Given the description of an element on the screen output the (x, y) to click on. 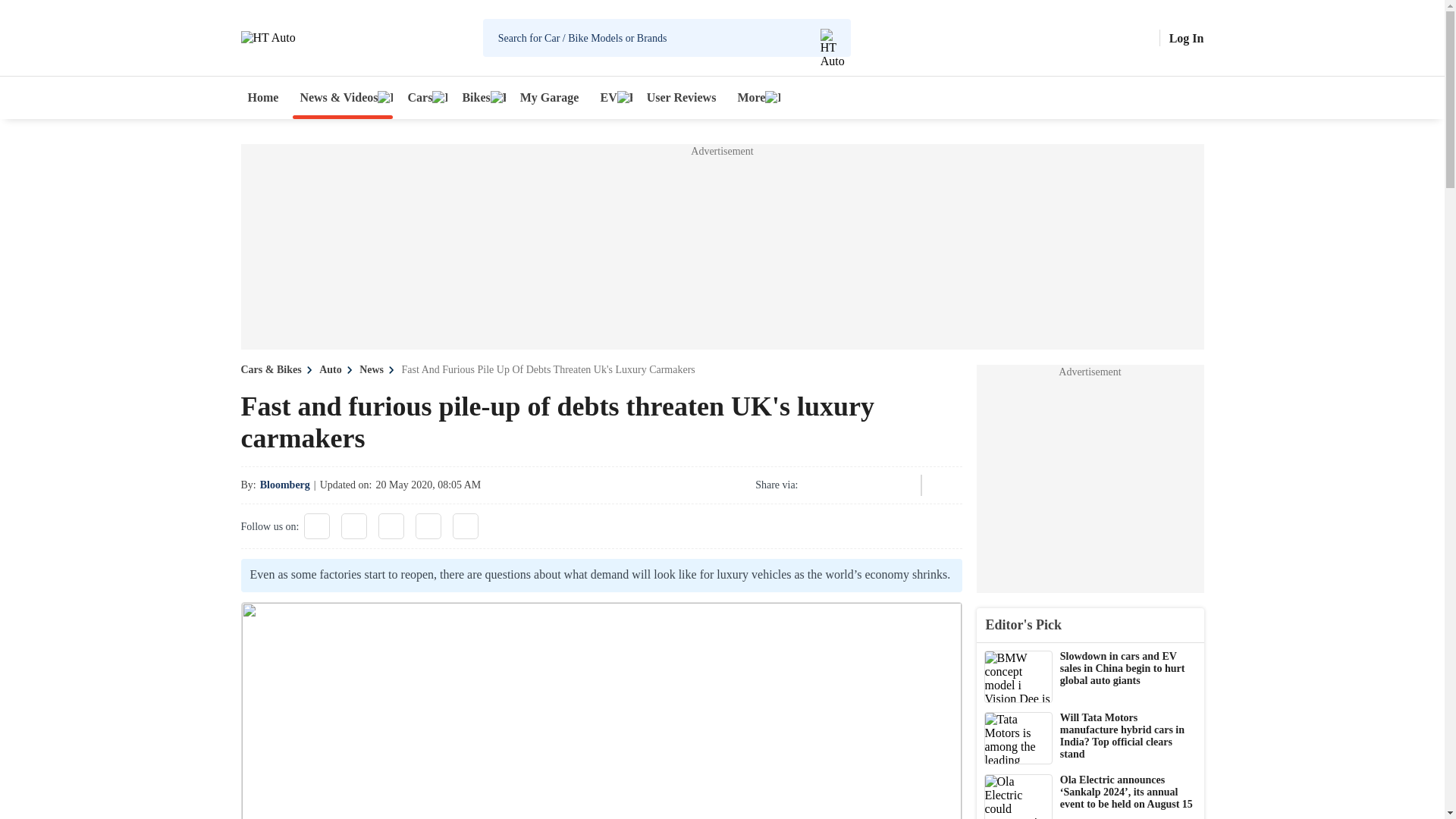
Bikes (479, 97)
Facebook Share (816, 484)
Tweet (857, 484)
Cars (423, 97)
Home (263, 97)
My Garage (549, 97)
EV (611, 97)
Log In (1186, 37)
